Given the description of an element on the screen output the (x, y) to click on. 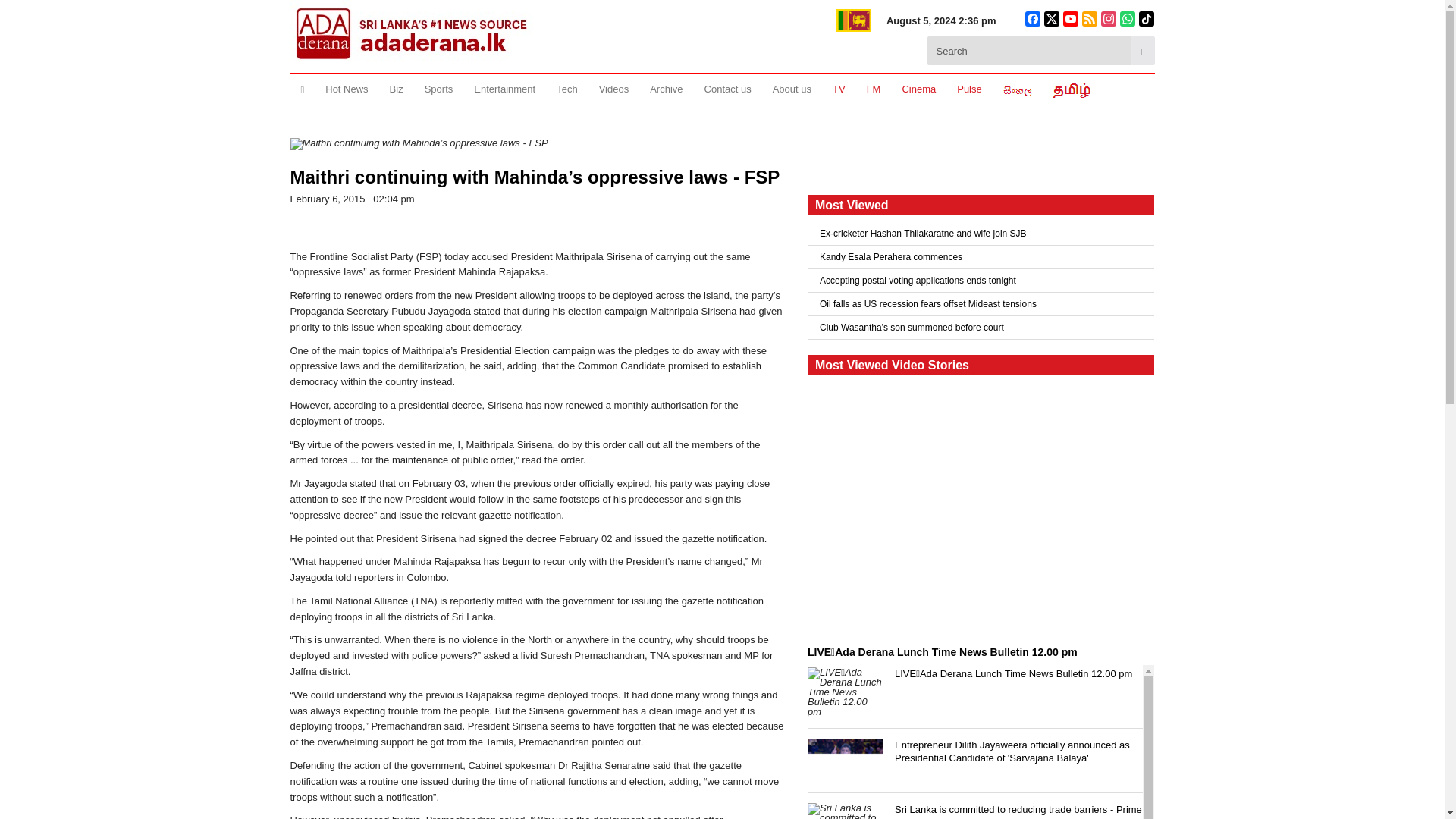
FM (873, 89)
Pulse (969, 89)
Kandy Esala Perahera commences (981, 256)
Cinema (918, 89)
Biz (395, 89)
About us (791, 89)
Ex-cricketer Hashan Thilakaratne and wife join SJB (981, 232)
Hot News (346, 89)
Sports (438, 89)
Contact us (727, 89)
